Given the description of an element on the screen output the (x, y) to click on. 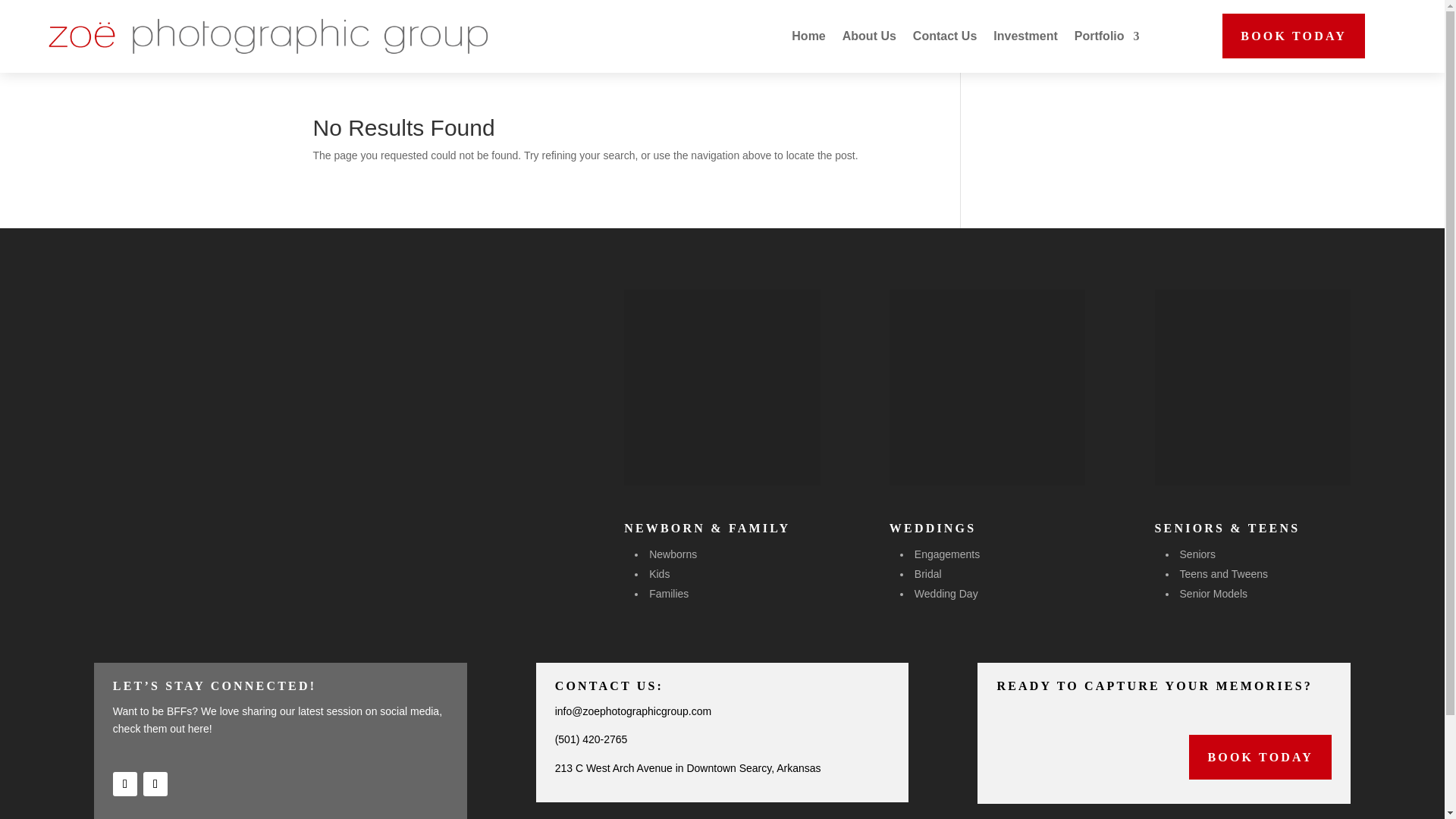
Investment (1024, 36)
Contact Us (944, 36)
Portfolio (1107, 36)
Follow on Instagram (154, 784)
Follow on Facebook (124, 784)
About Us (869, 36)
BOOK TODAY (1294, 35)
BOOK TODAY (1260, 756)
